Given the description of an element on the screen output the (x, y) to click on. 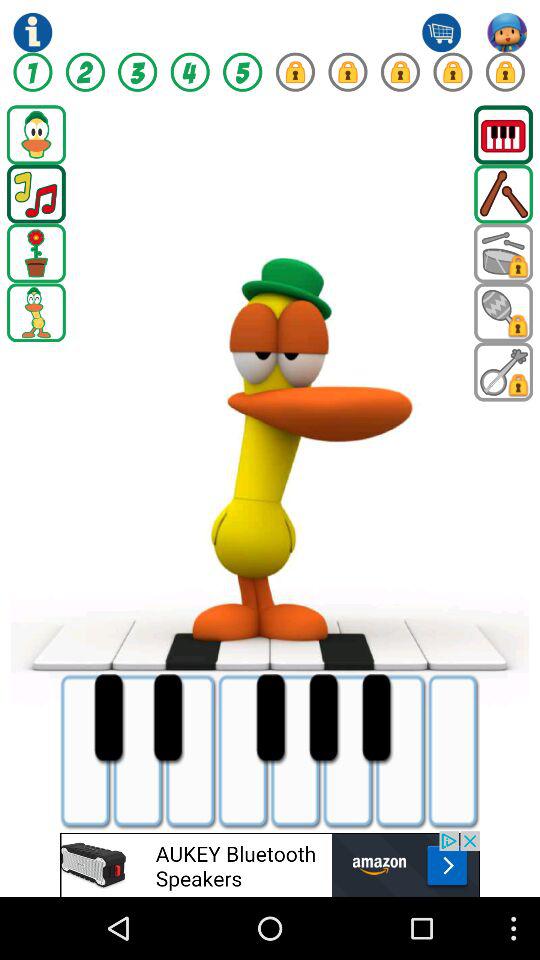
select flower (36, 253)
